Given the description of an element on the screen output the (x, y) to click on. 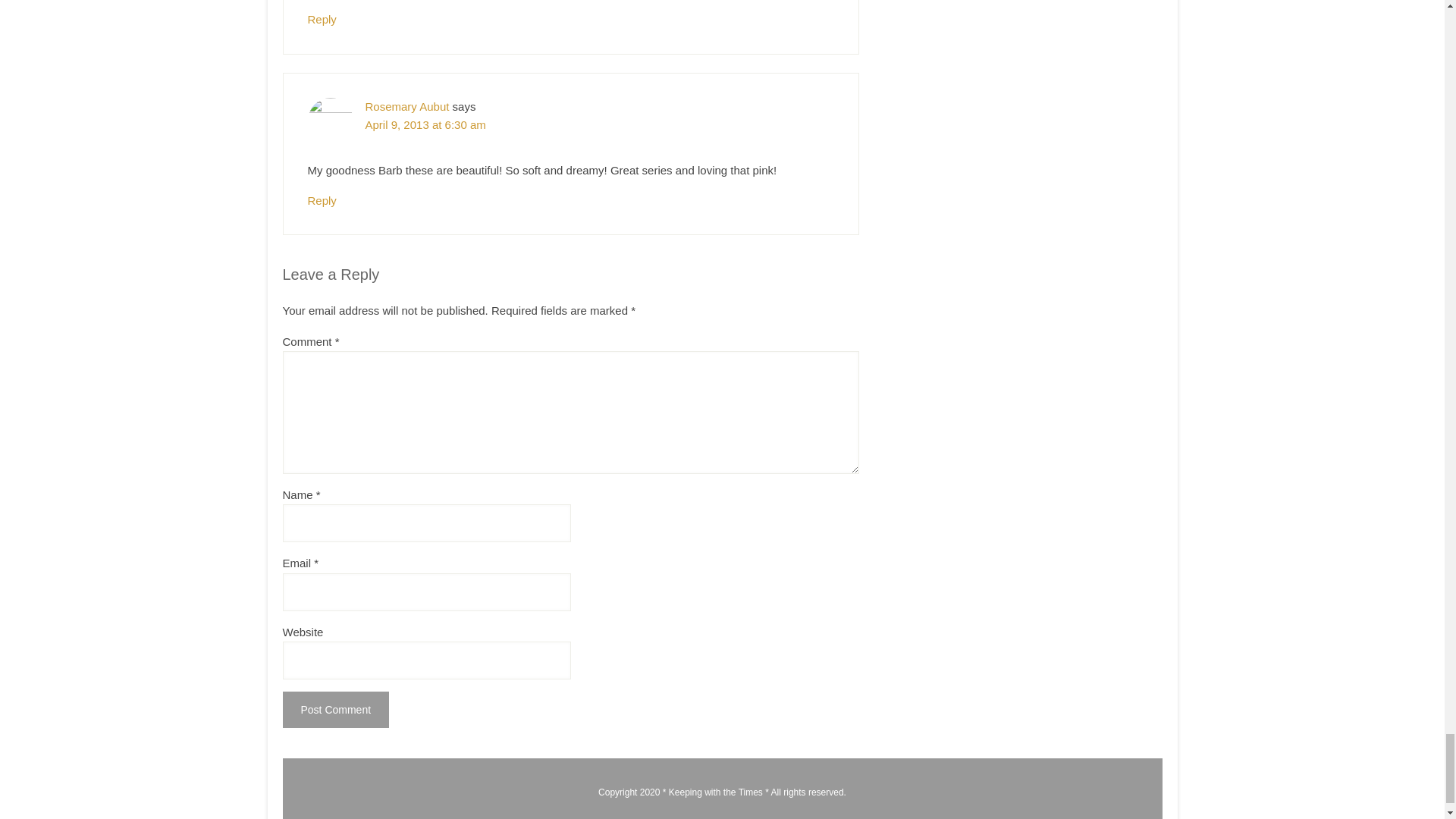
Post Comment (335, 709)
